Given the description of an element on the screen output the (x, y) to click on. 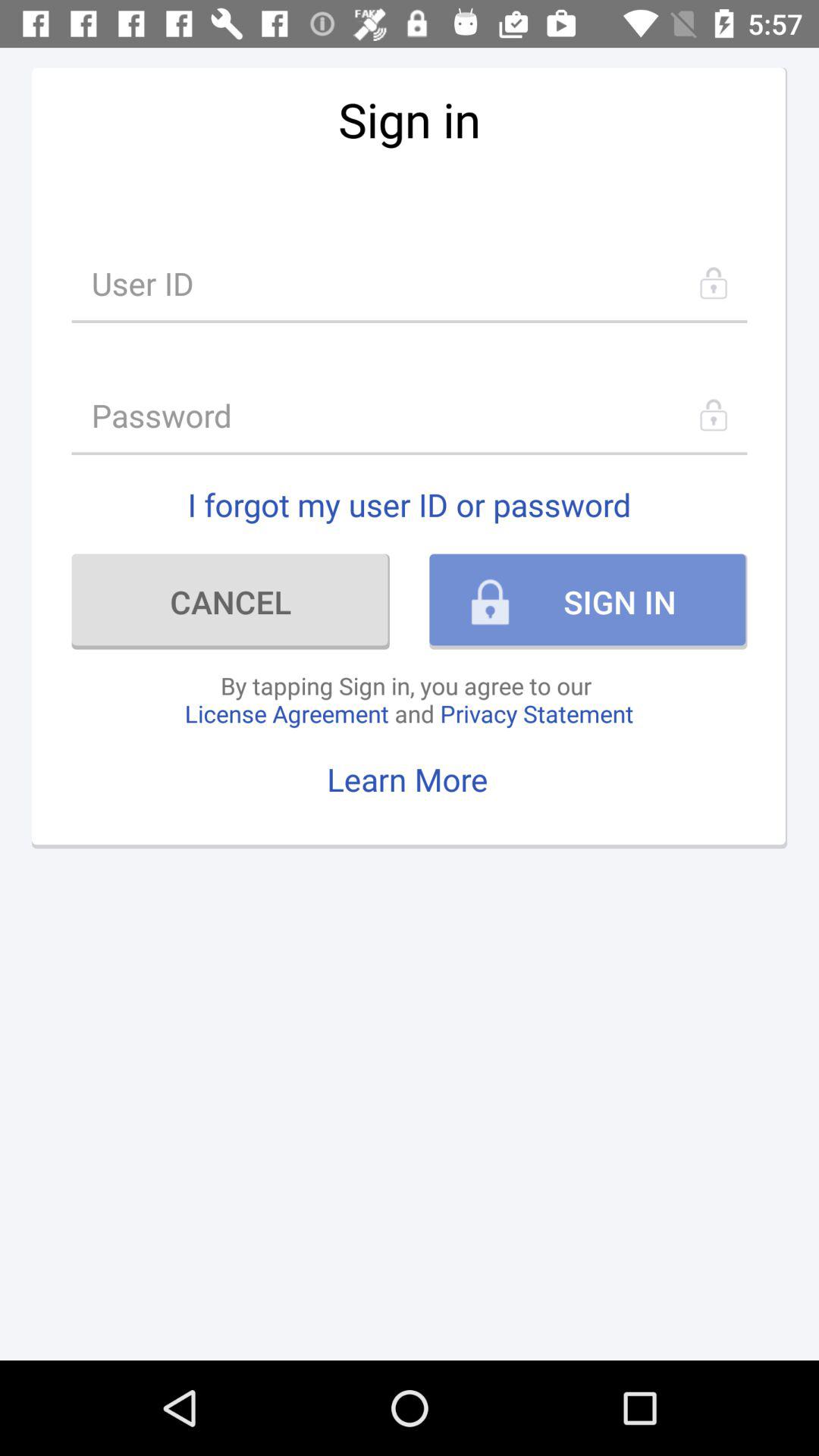
password (409, 415)
